Given the description of an element on the screen output the (x, y) to click on. 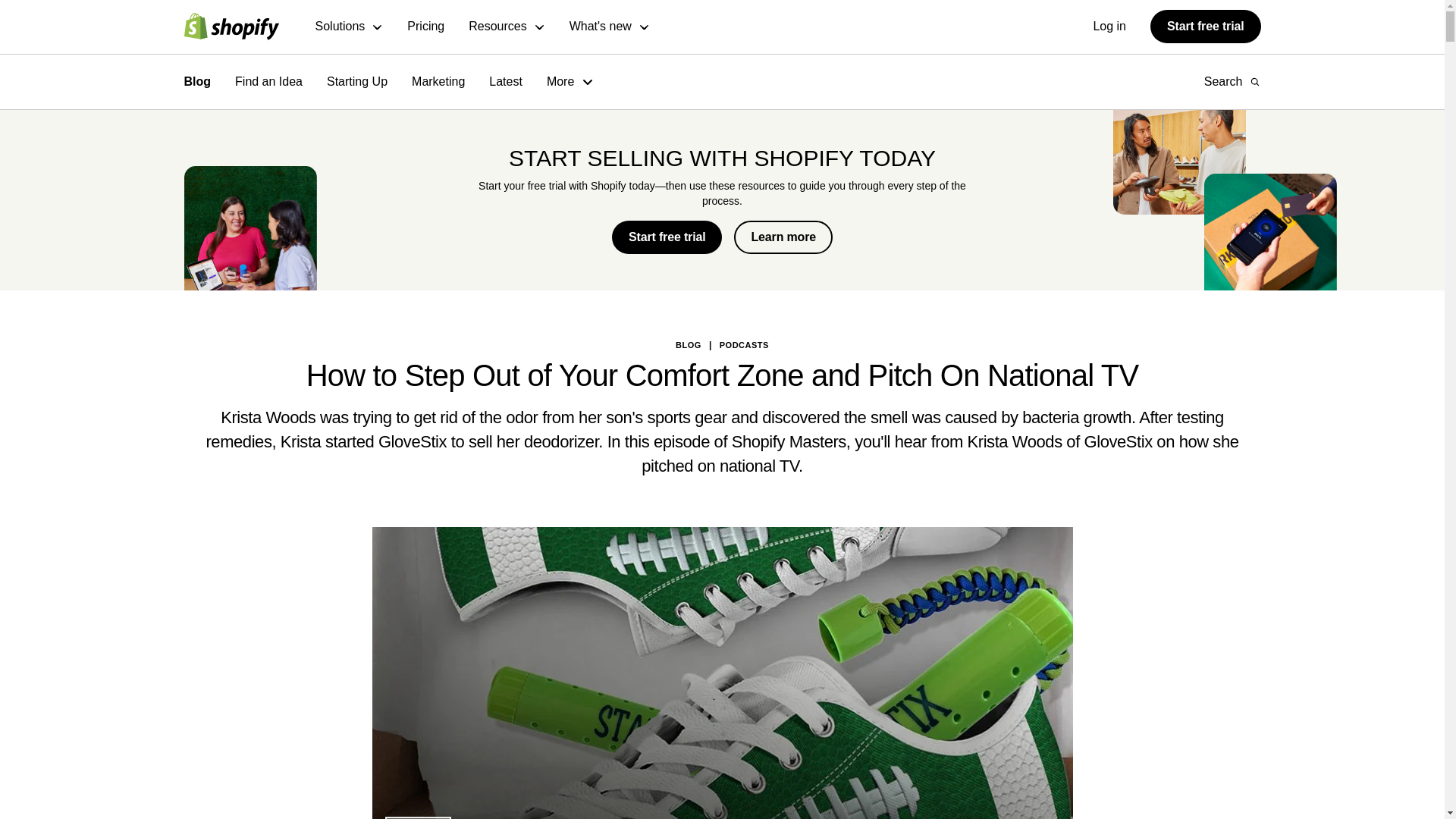
Solutions (349, 27)
Resources (506, 27)
